Given the description of an element on the screen output the (x, y) to click on. 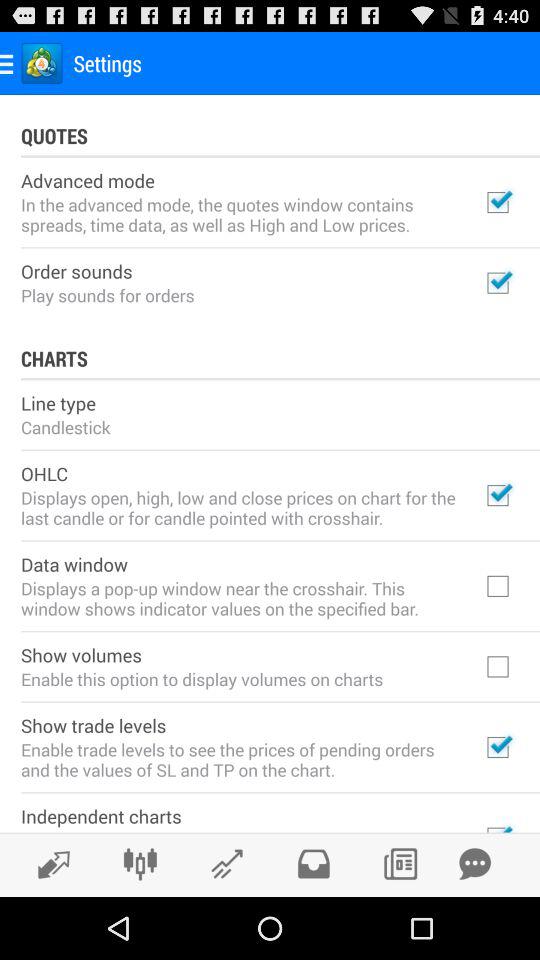
connect with others (140, 863)
